Given the description of an element on the screen output the (x, y) to click on. 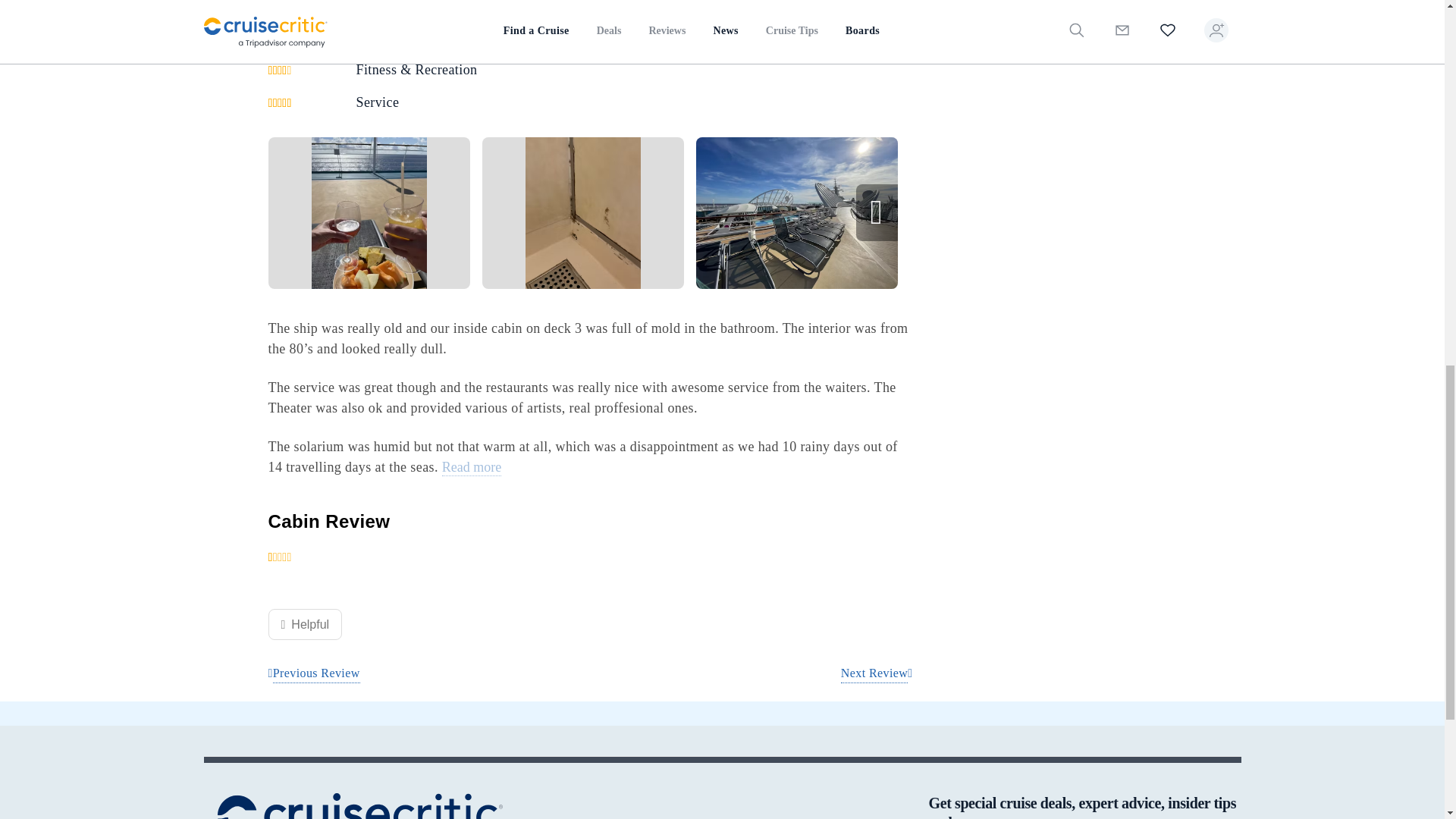
Read more (471, 467)
Helpful (304, 624)
